Given the description of an element on the screen output the (x, y) to click on. 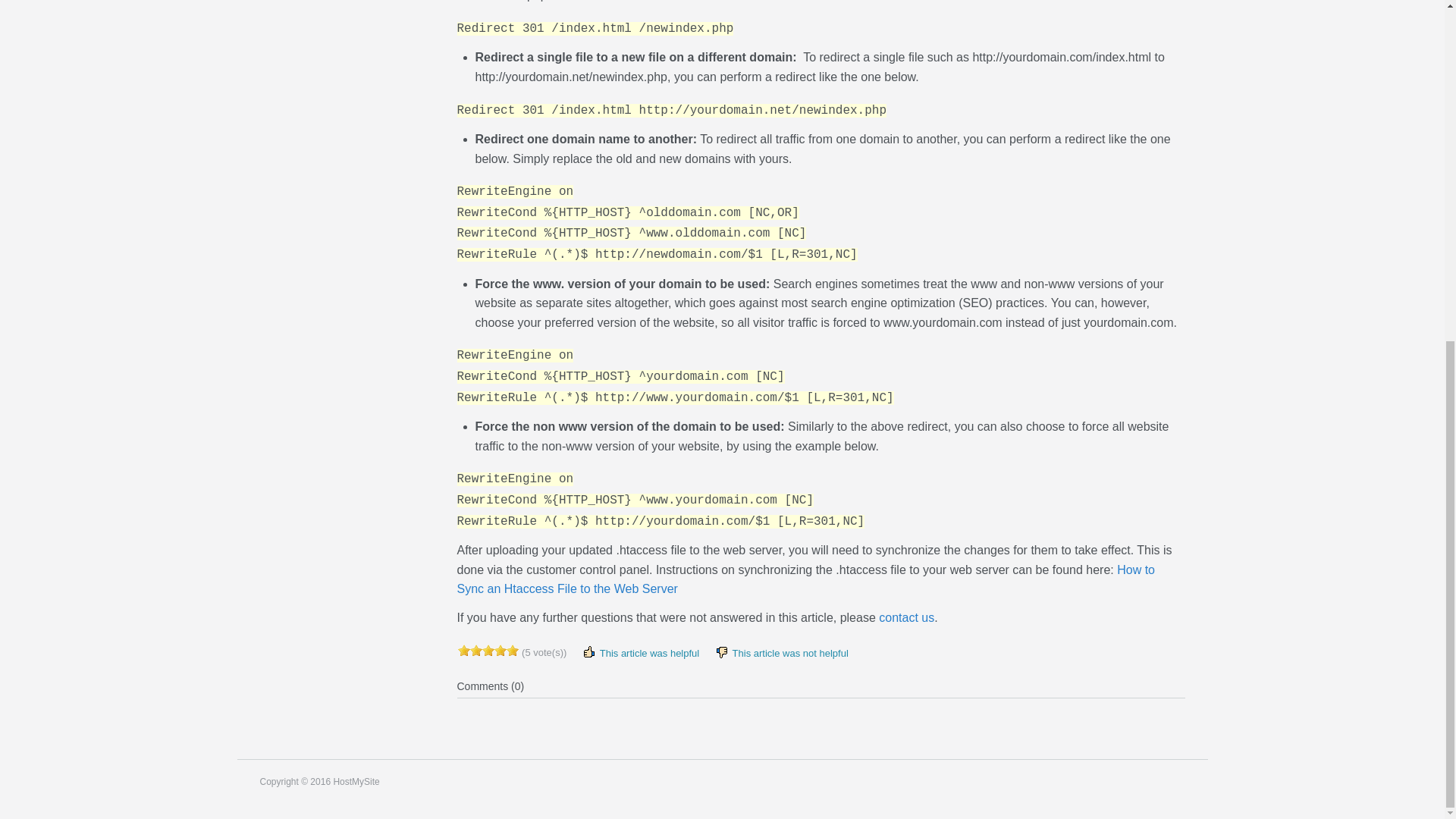
contact us (906, 617)
How to Sync an Htaccess File to the Web Server (805, 579)
